Given the description of an element on the screen output the (x, y) to click on. 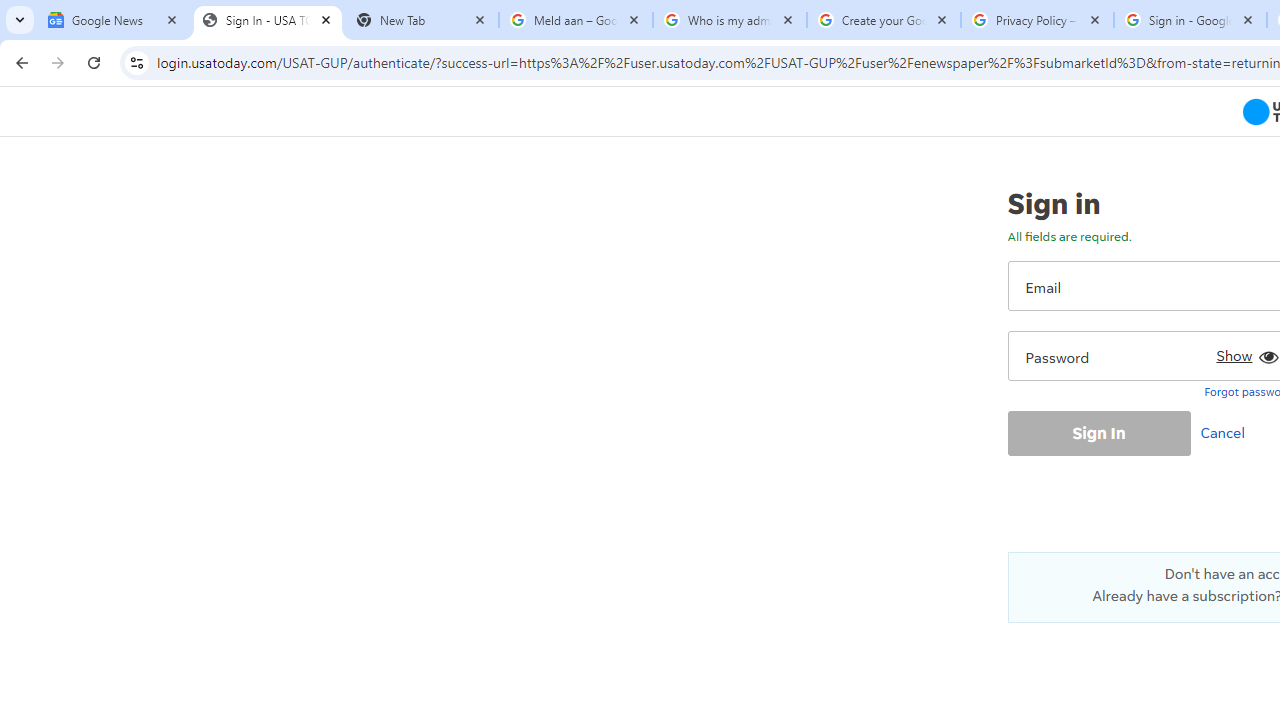
New Tab (421, 20)
System (10, 11)
Sign In - USA TODAY (267, 20)
Back (19, 62)
Sign In (1098, 432)
Show (1244, 351)
Create your Google Account (883, 20)
View site information (136, 62)
Reload (93, 62)
Who is my administrator? - Google Account Help (729, 20)
Search tabs (20, 20)
Forward (57, 62)
Google News (113, 20)
